Given the description of an element on the screen output the (x, y) to click on. 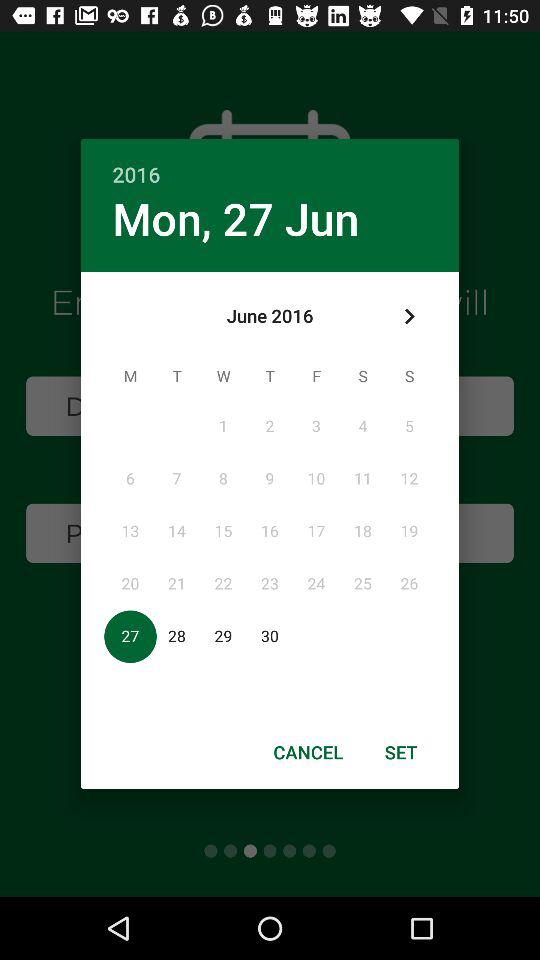
jump until the set item (401, 751)
